Given the description of an element on the screen output the (x, y) to click on. 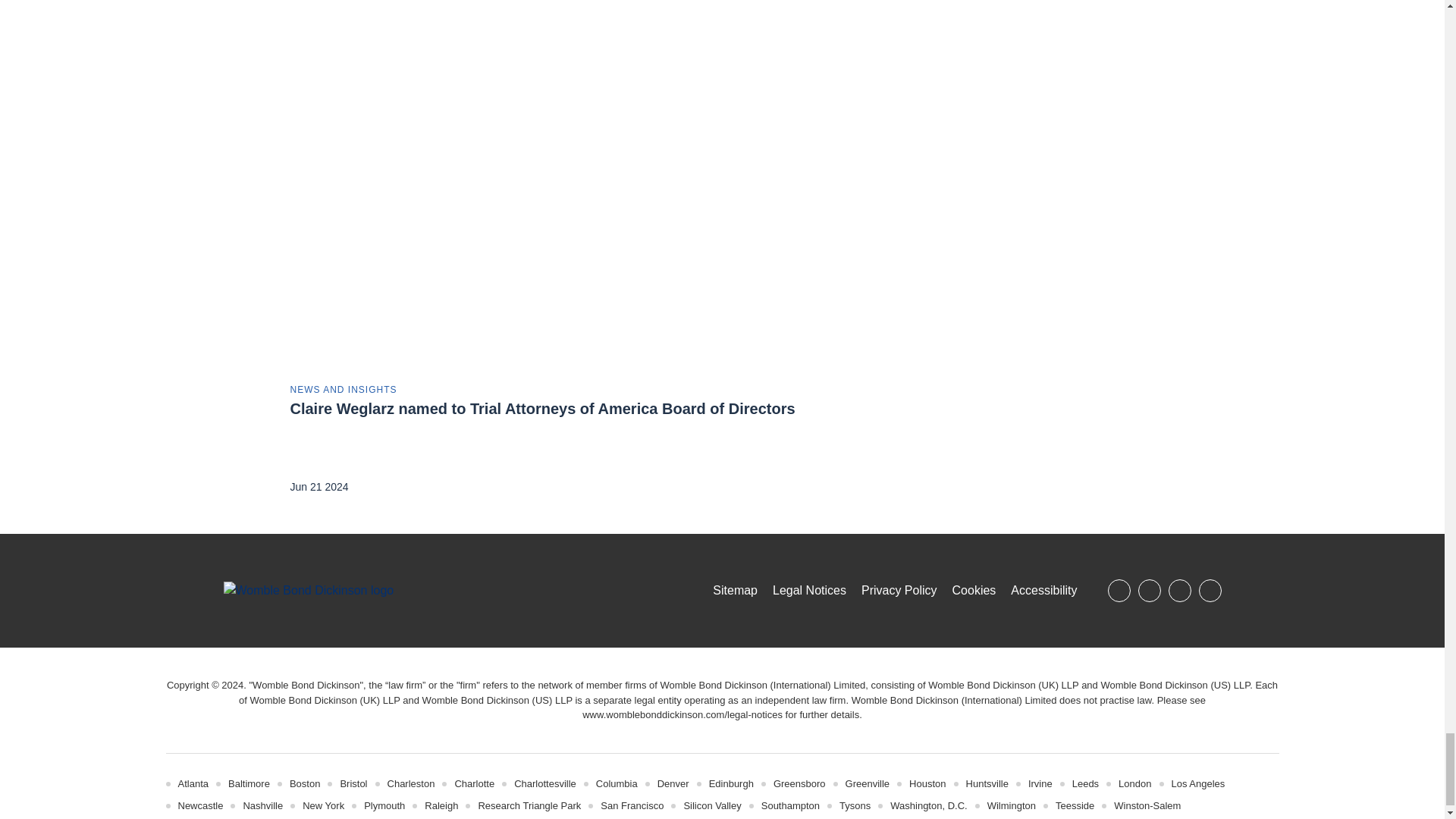
Atlanta, GA, US (192, 783)
Charlottesville, VA, US (544, 783)
Columbia, SC, US (616, 783)
Charleston, SC, US (411, 783)
Boston, MA, US (304, 783)
Los Angeles, CA, US (1197, 783)
Edinburgh (731, 783)
Bristol (352, 783)
Baltimore, MD, US (248, 783)
Irvine, CA, US  (1039, 783)
